Given the description of an element on the screen output the (x, y) to click on. 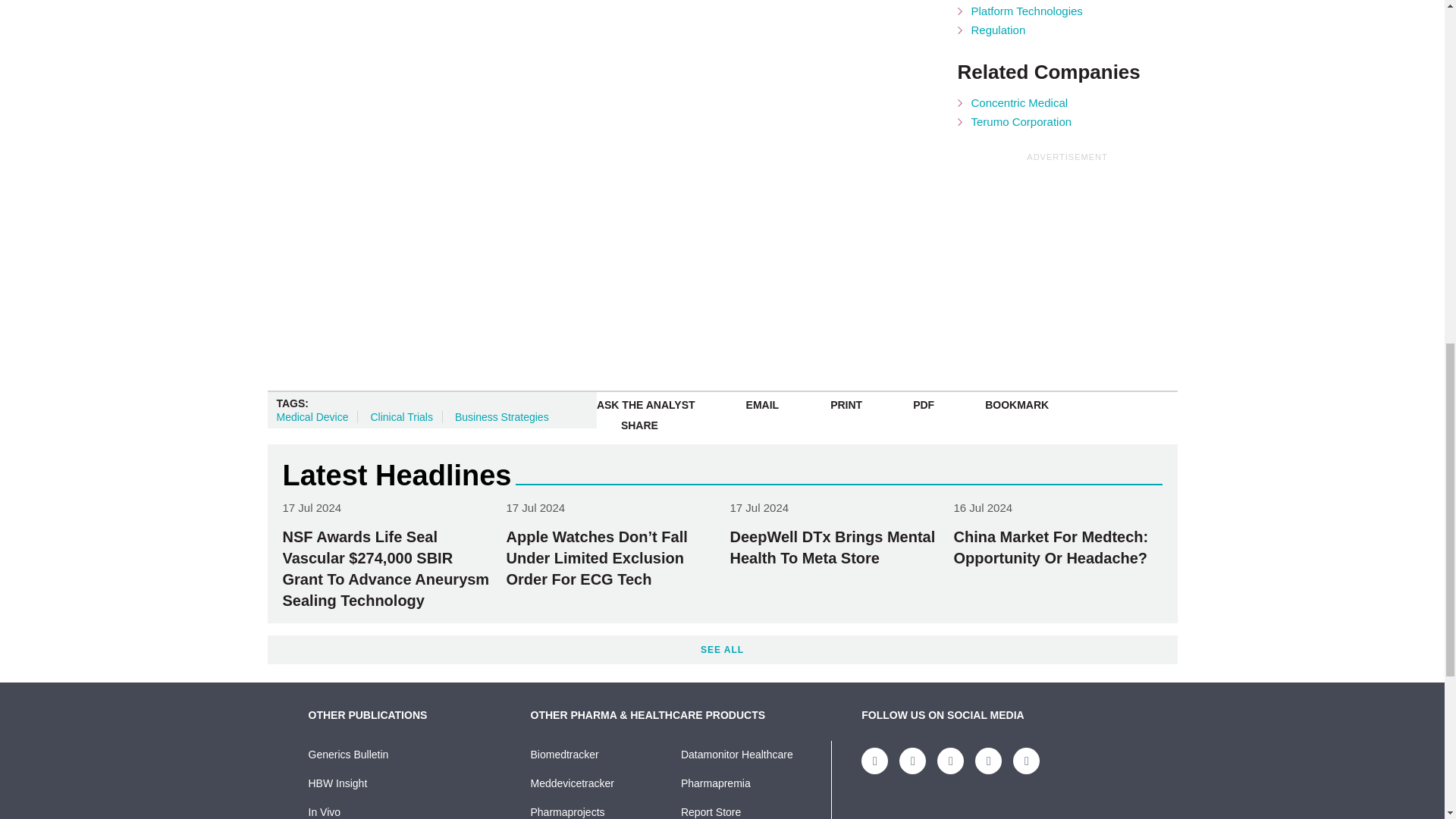
3rd party ad content (634, 12)
3rd party ad content (1070, 258)
